Given the description of an element on the screen output the (x, y) to click on. 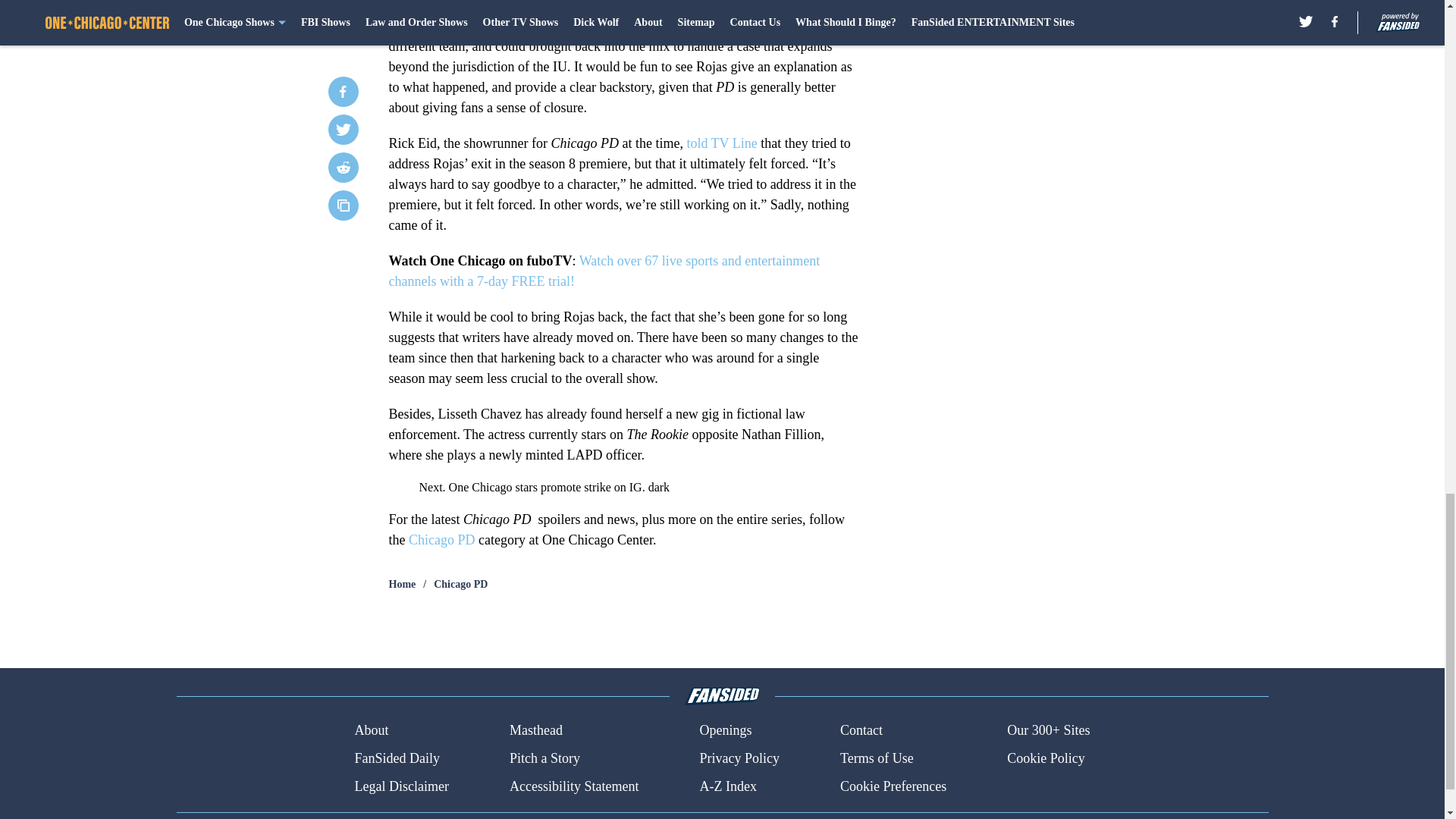
Privacy Policy (738, 758)
Chicago PD (460, 584)
Chicago PD (442, 539)
Pitch a Story (544, 758)
Contact (861, 730)
Openings (724, 730)
Cookie Policy (1045, 758)
told TV Line (721, 142)
FanSided Daily (396, 758)
Terms of Use (877, 758)
Home (401, 584)
About (370, 730)
Masthead (535, 730)
